Given the description of an element on the screen output the (x, y) to click on. 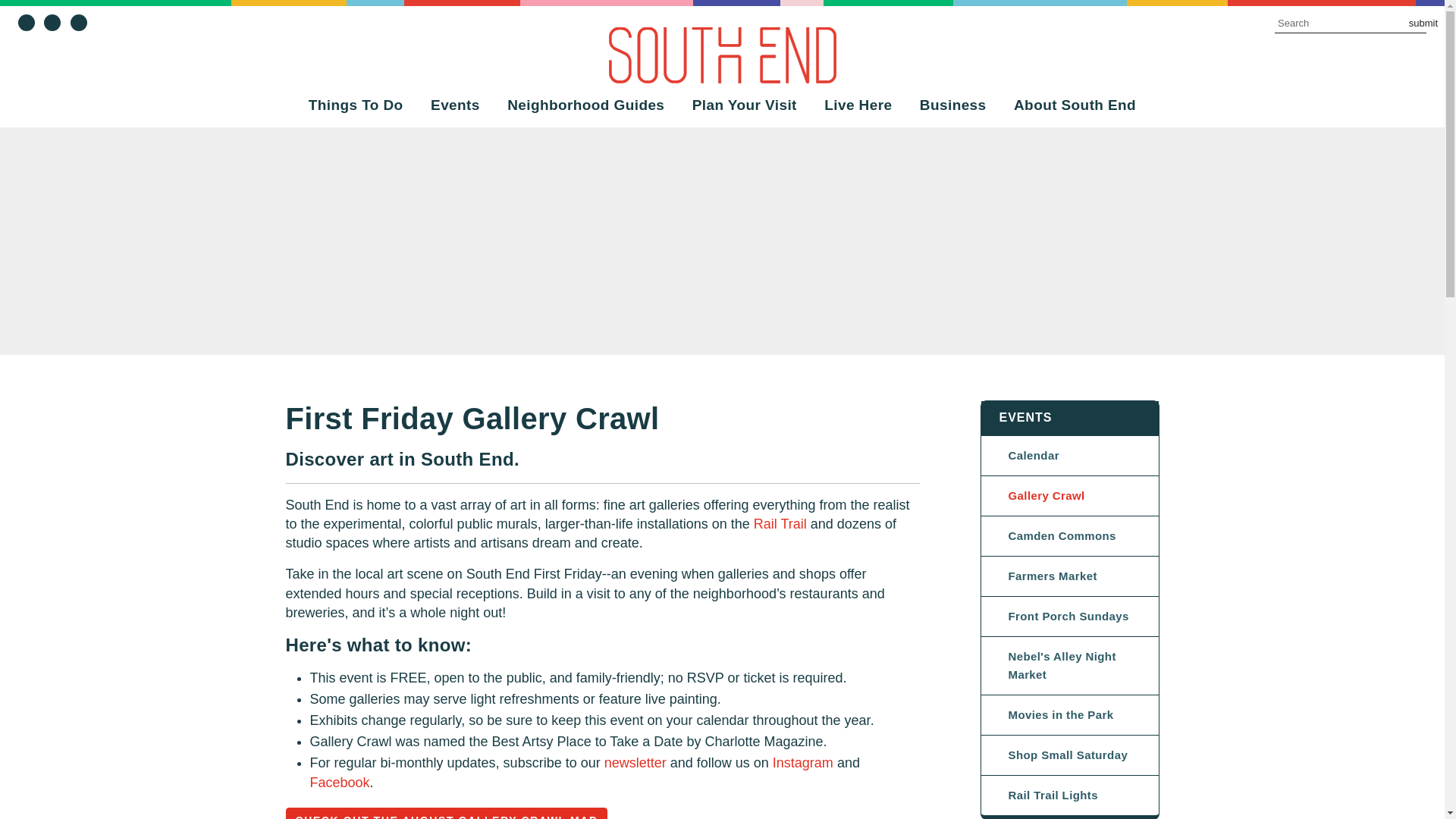
Live Here (858, 105)
Events (455, 105)
Neighborhood Guides (586, 105)
Business (952, 105)
Plan Your Visit (744, 105)
Things To Do (355, 105)
